Given the description of an element on the screen output the (x, y) to click on. 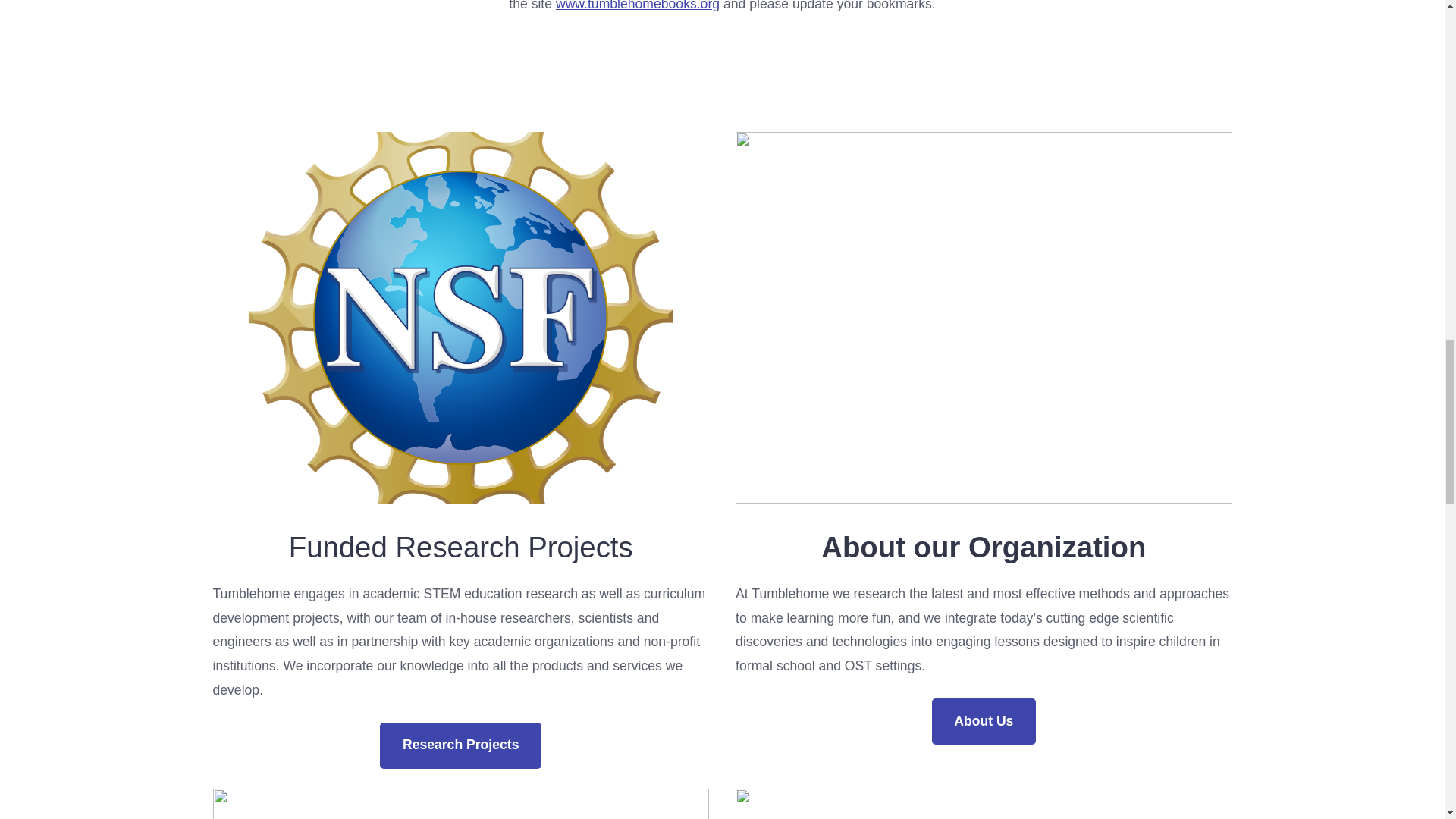
About Us (983, 721)
Research Projects (460, 745)
www.tumblehomebooks.org (637, 5)
